Given the description of an element on the screen output the (x, y) to click on. 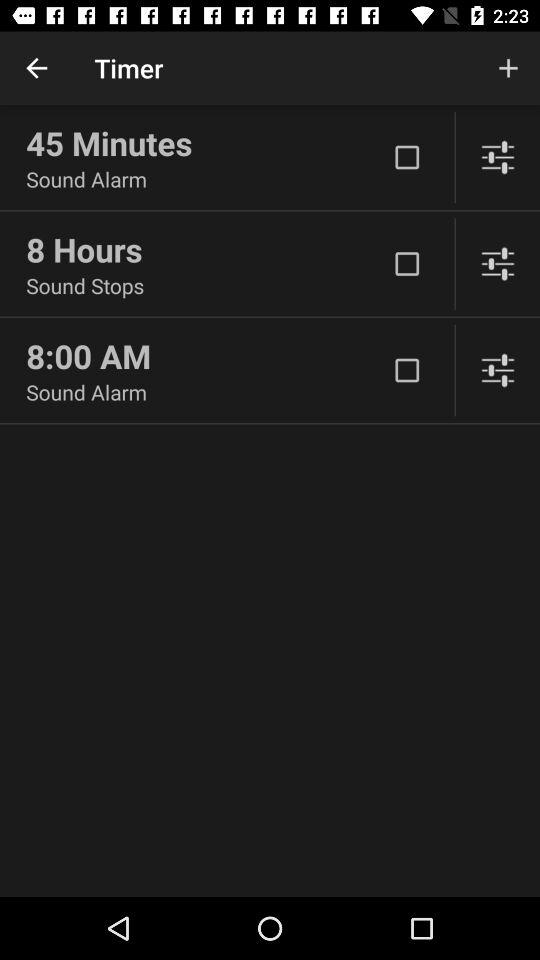
tap icon below sound alarm item (206, 249)
